Given the description of an element on the screen output the (x, y) to click on. 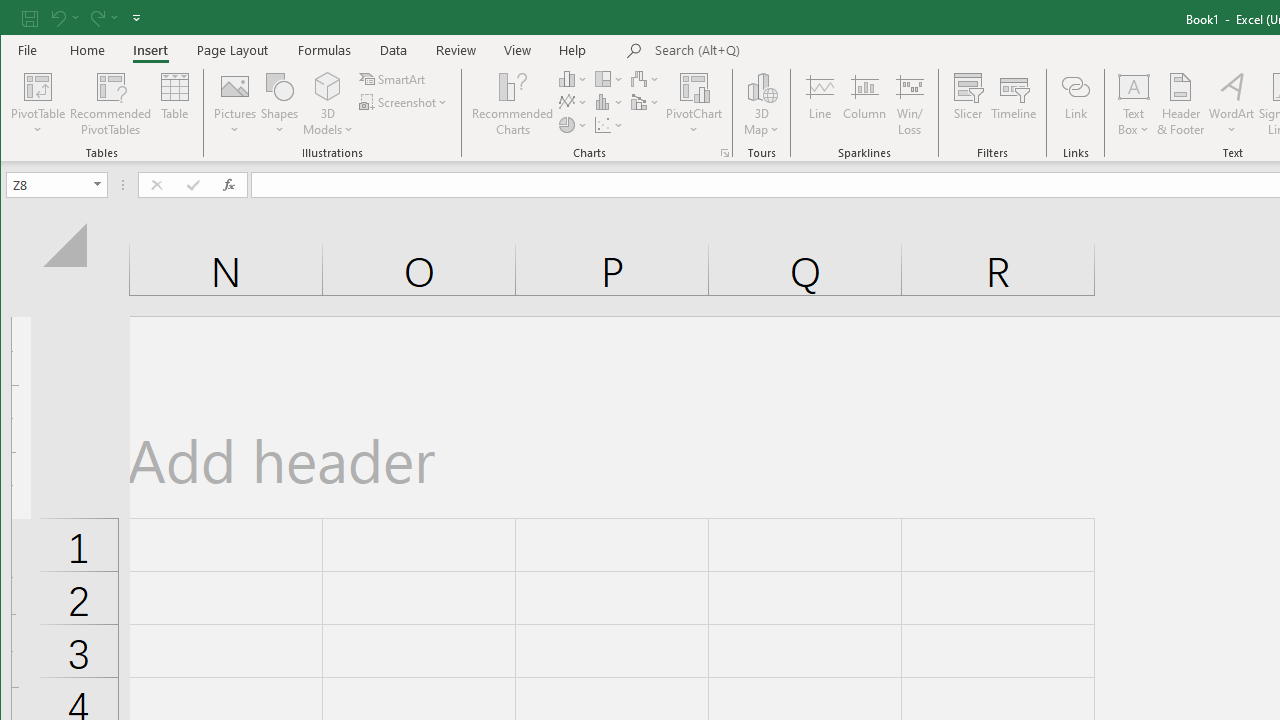
PivotChart (694, 104)
Shapes (279, 104)
PivotTable (37, 86)
PivotChart (694, 86)
Recommended Charts (724, 152)
Timeline (1014, 104)
PivotTable (37, 104)
Recommended PivotTables (110, 104)
